Given the description of an element on the screen output the (x, y) to click on. 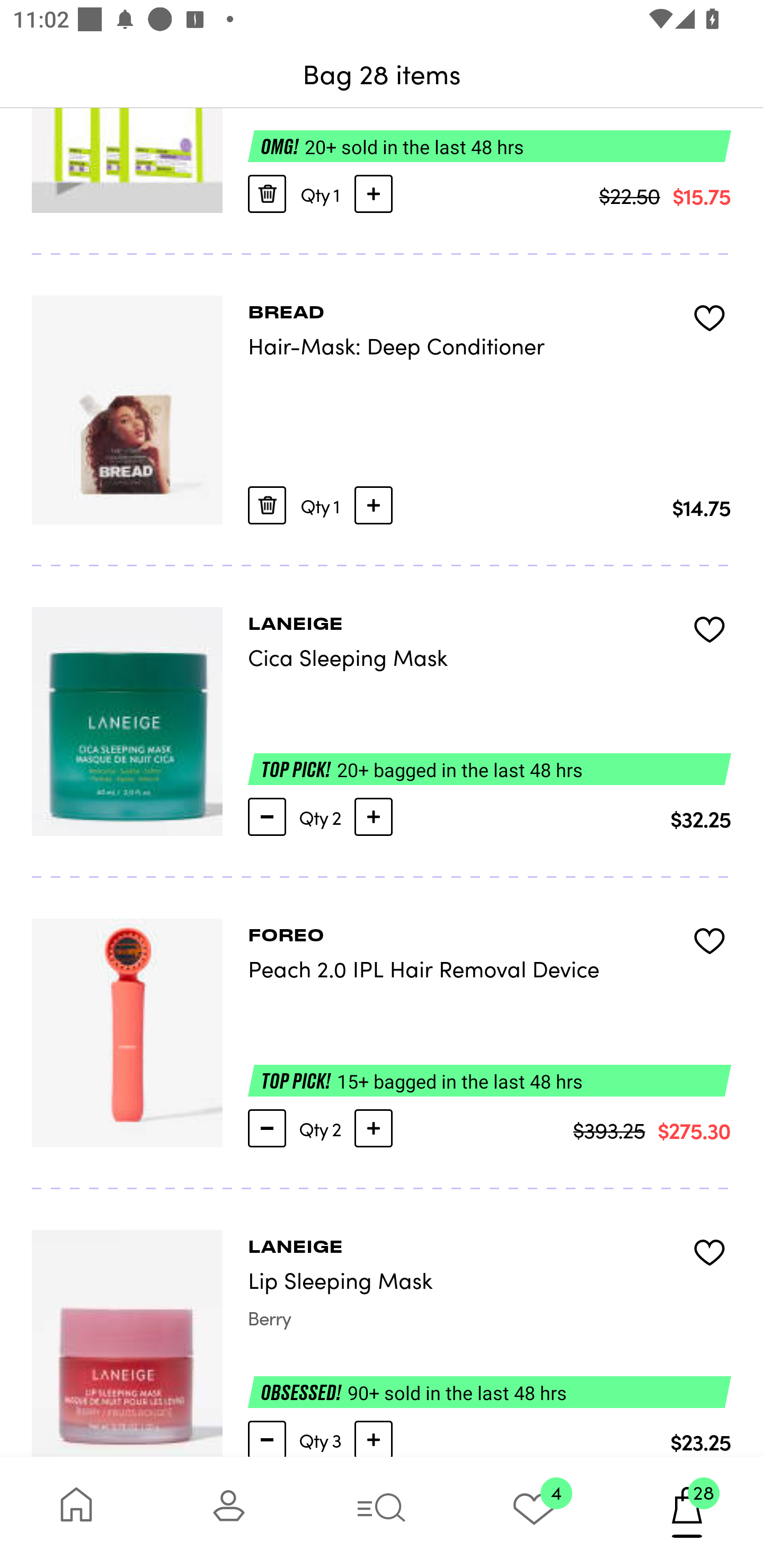
BREAD Hair-Mask: Deep Conditioner Qty 1 $14.75 (381, 410)
4 (533, 1512)
28 (686, 1512)
